Given the description of an element on the screen output the (x, y) to click on. 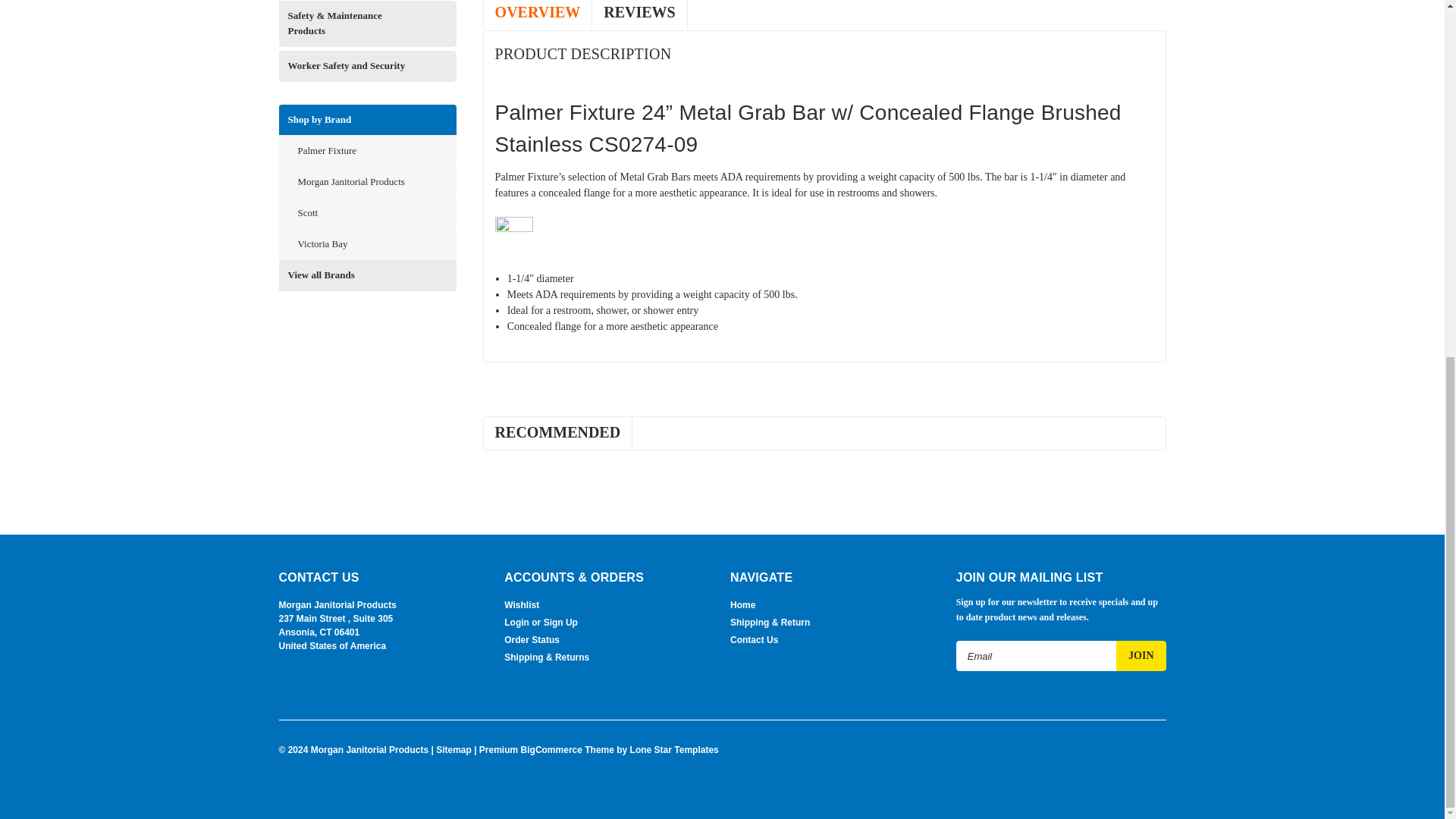
Join (1141, 655)
